Given the description of an element on the screen output the (x, y) to click on. 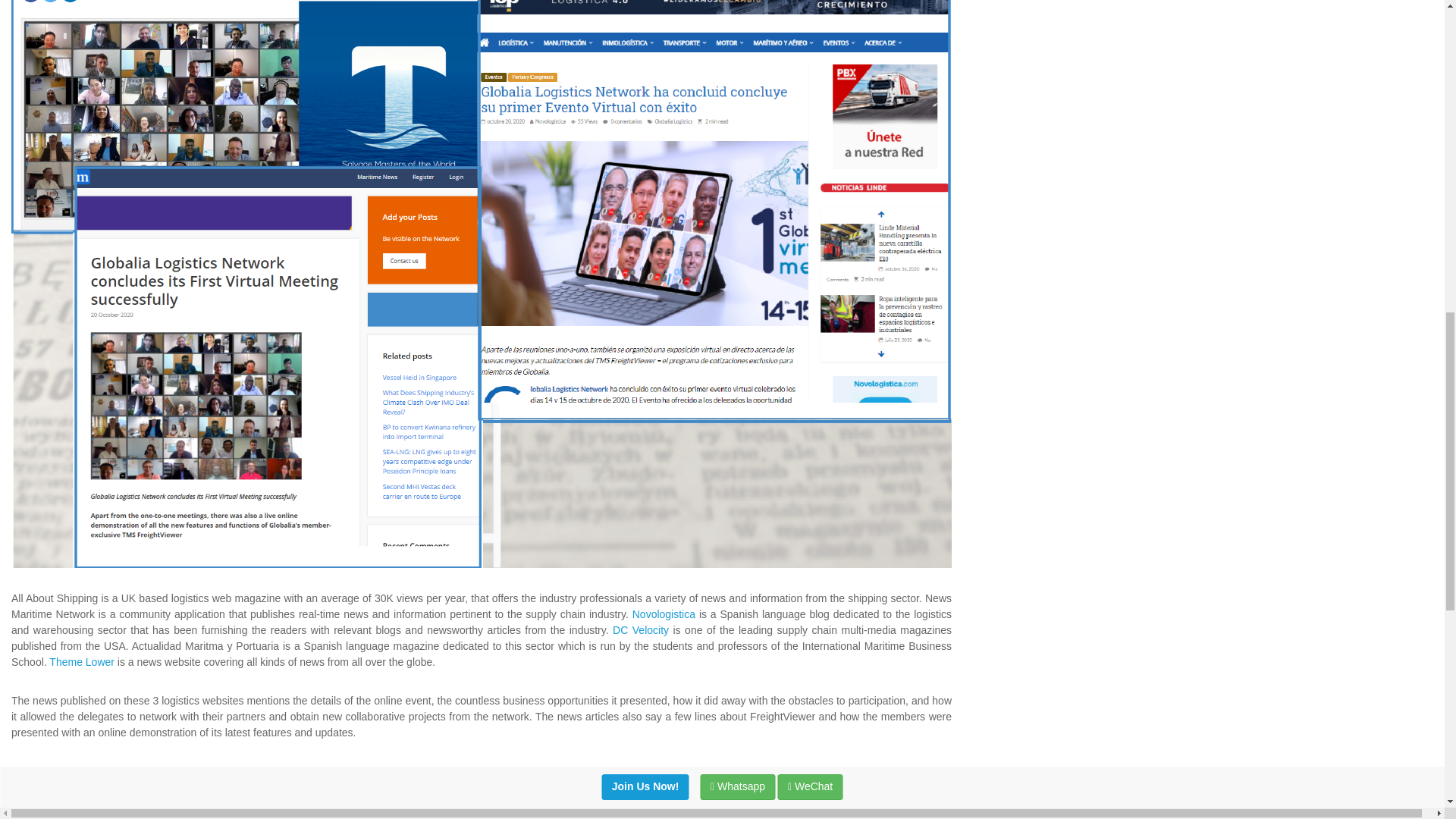
Novologistica (663, 613)
Theme Lower (82, 662)
Globalia Logistics Network in the media (642, 809)
Globalia Logistics Network on the news (833, 809)
DC Velocity (640, 630)
All About SHipping (175, 809)
Global brand logistics network (472, 809)
freight forwarder's online conference (310, 809)
News (71, 809)
